Given the description of an element on the screen output the (x, y) to click on. 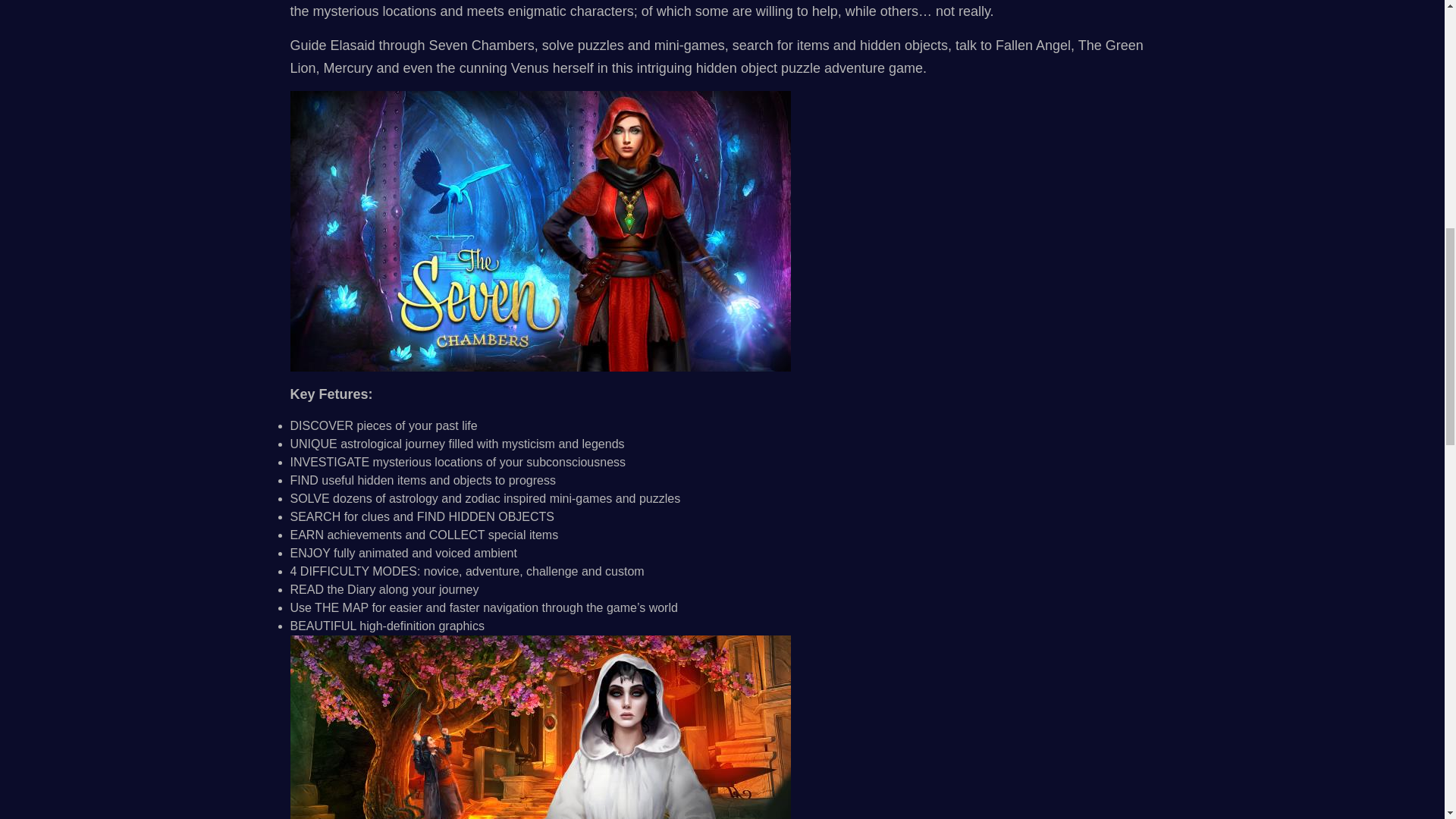
Seven Chambers PC Crack (539, 727)
